Given the description of an element on the screen output the (x, y) to click on. 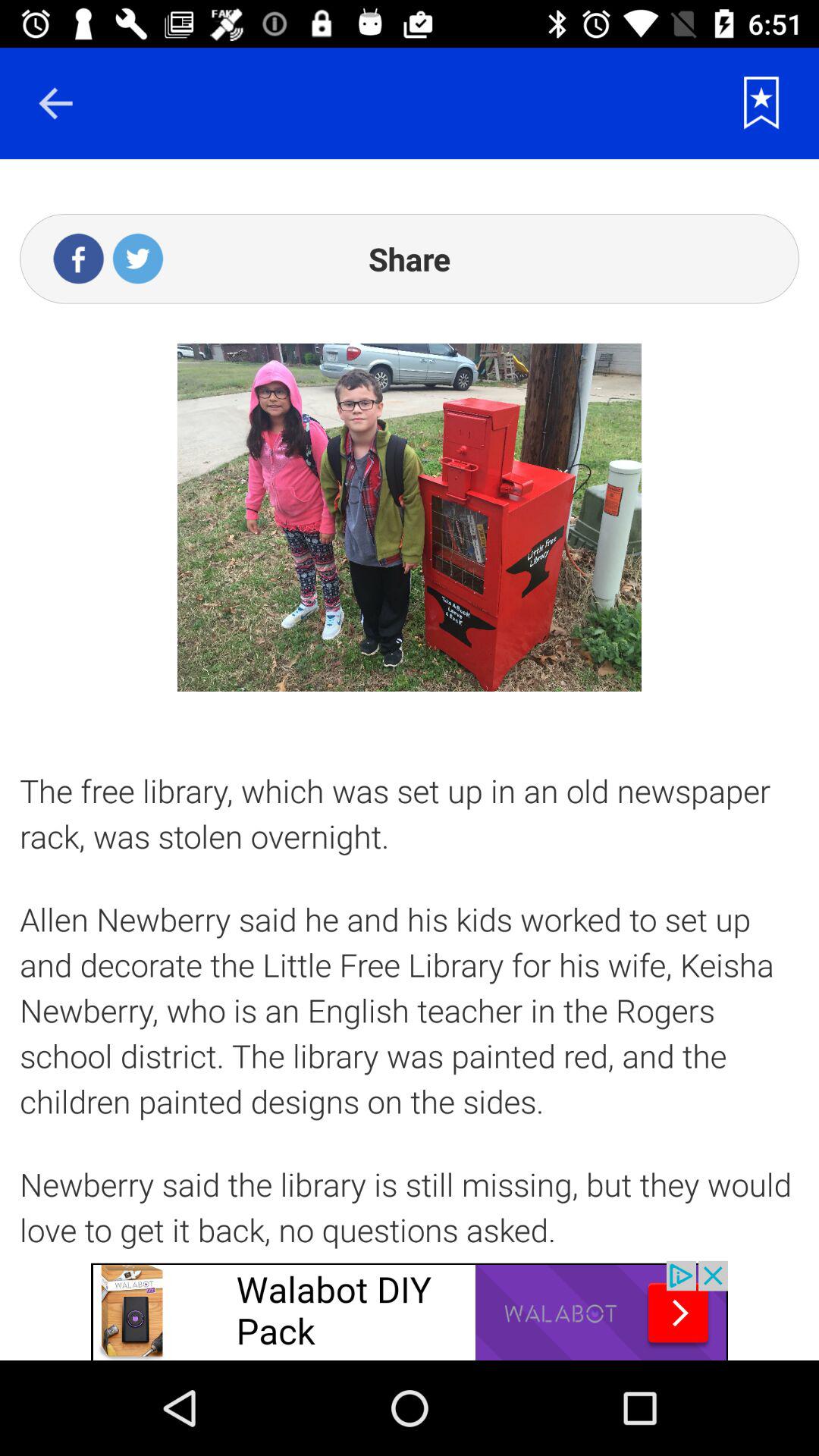
go to save (761, 102)
